Given the description of an element on the screen output the (x, y) to click on. 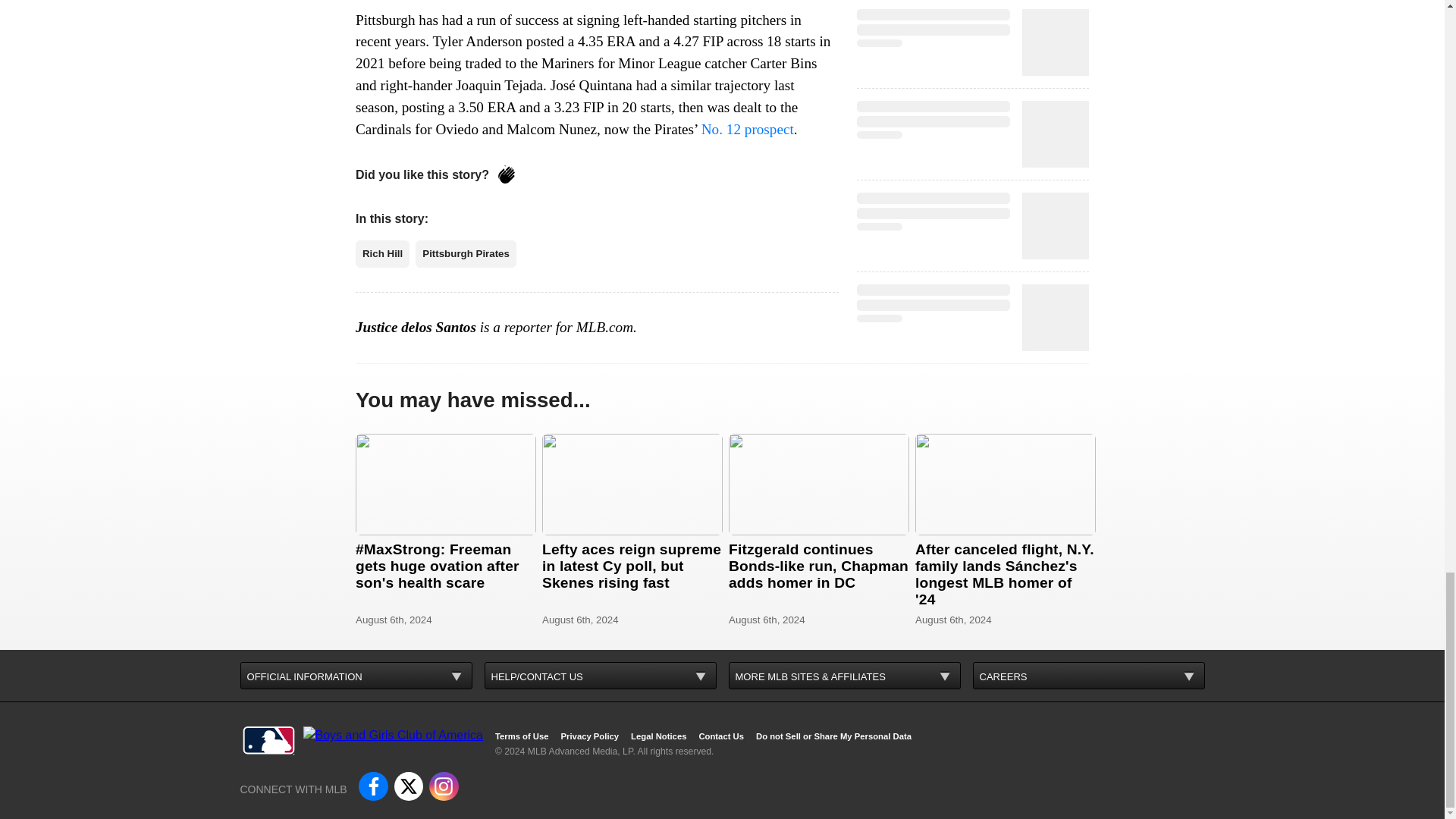
Follow on facebook (372, 786)
Follow on twitter (408, 786)
Follow on instagram (443, 786)
CAREERS (1088, 675)
OFFICIAL INFORMATION (355, 675)
